Given the description of an element on the screen output the (x, y) to click on. 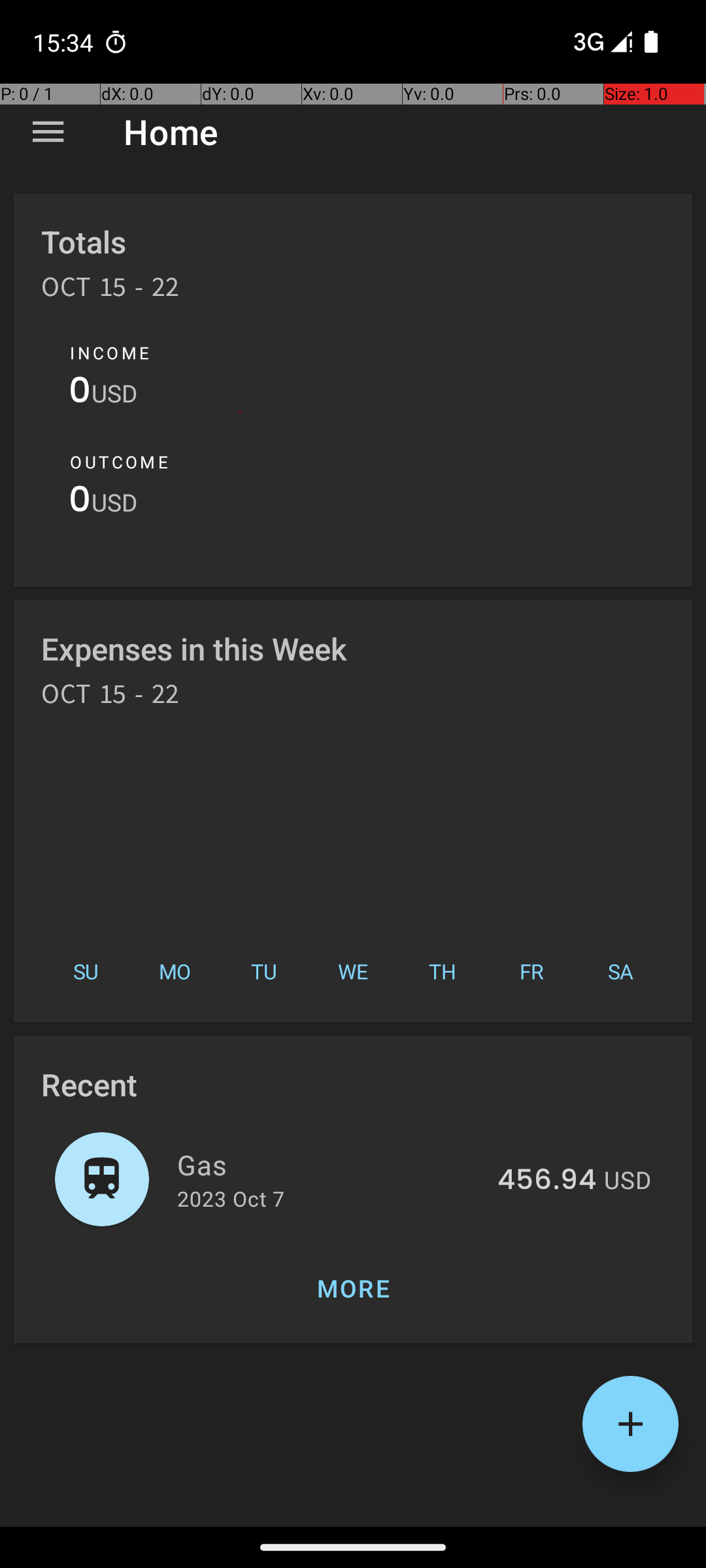
456.94 Element type: android.widget.TextView (546, 1180)
